Given the description of an element on the screen output the (x, y) to click on. 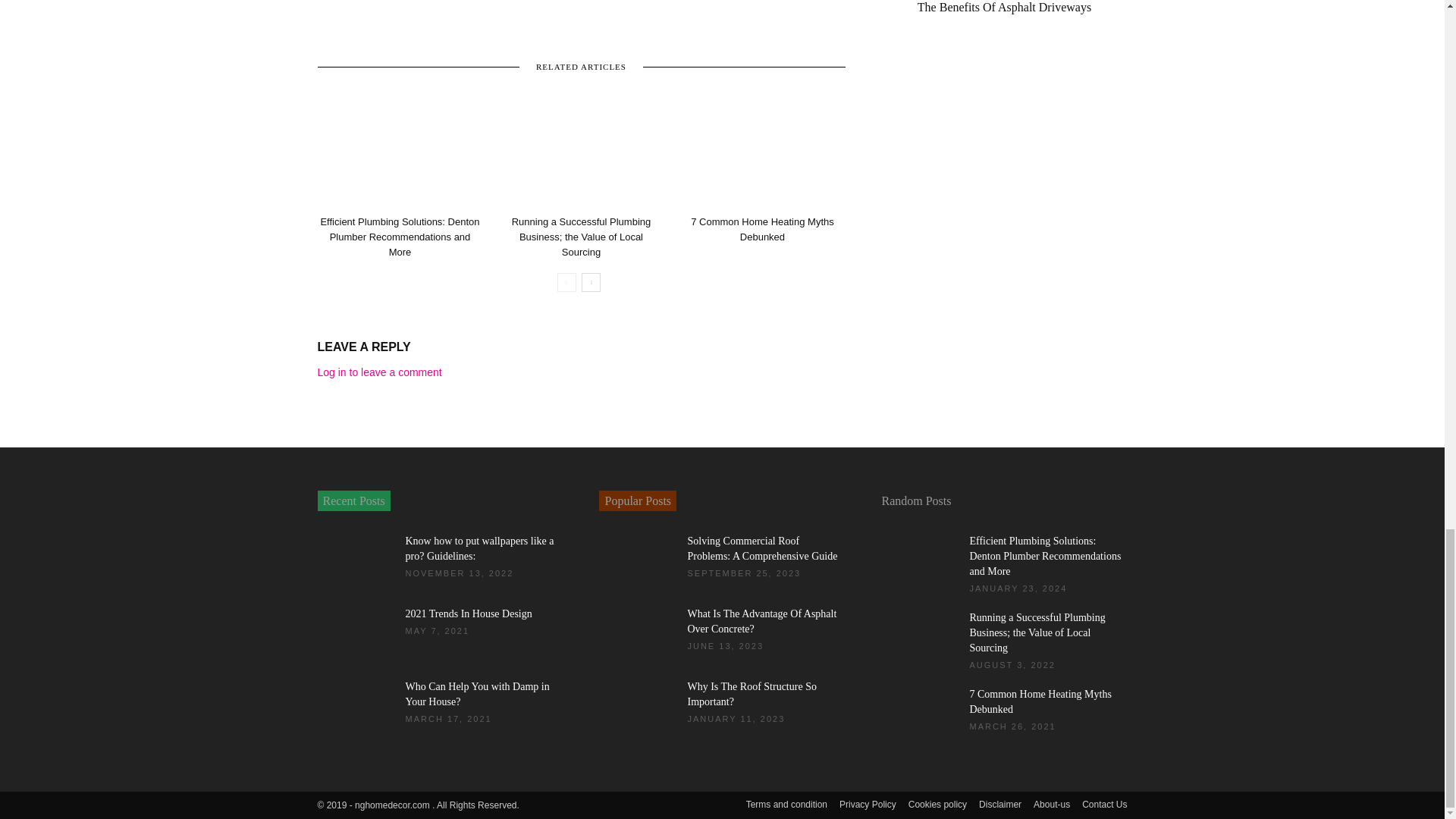
RELATED ARTICLES (581, 65)
